Given the description of an element on the screen output the (x, y) to click on. 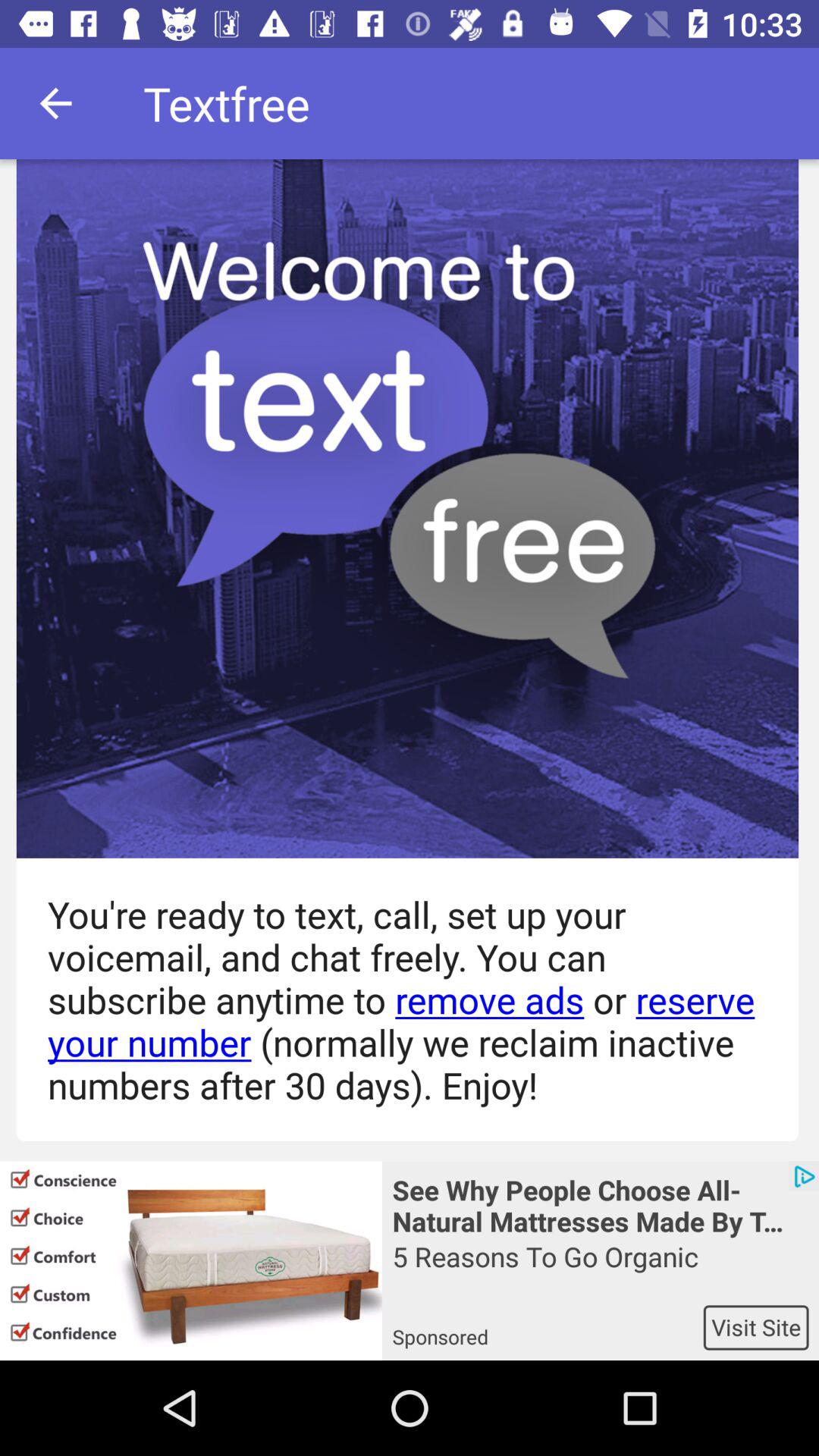
tap item below the see why people (600, 1271)
